Given the description of an element on the screen output the (x, y) to click on. 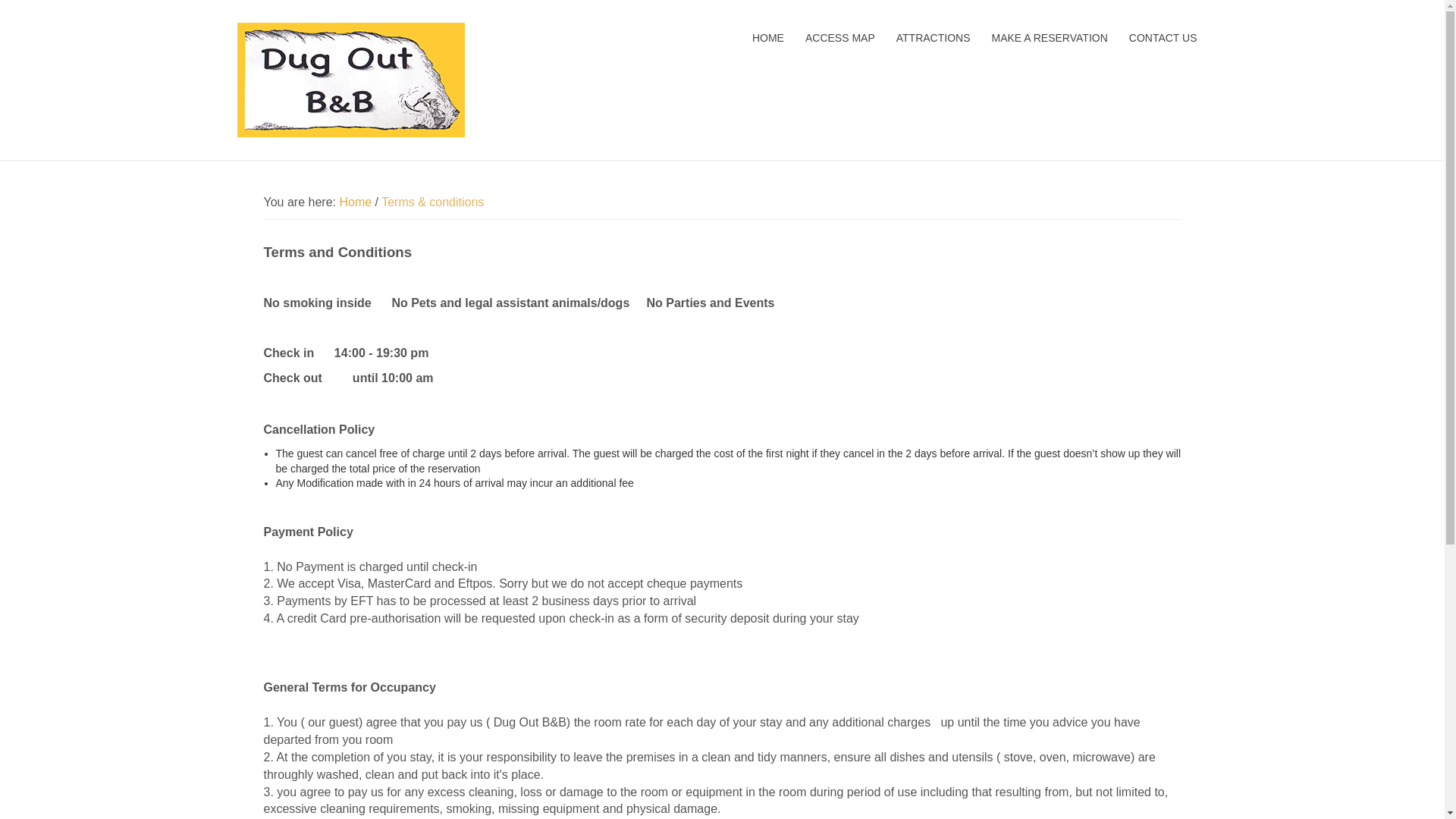
MAKE A RESERVATION Element type: text (1049, 37)
ACCESS MAP Element type: text (839, 37)
CONTACT US Element type: text (1163, 37)
HOME Element type: text (767, 37)
Home Element type: text (354, 201)
ATTRACTIONS Element type: text (933, 37)
